Given the description of an element on the screen output the (x, y) to click on. 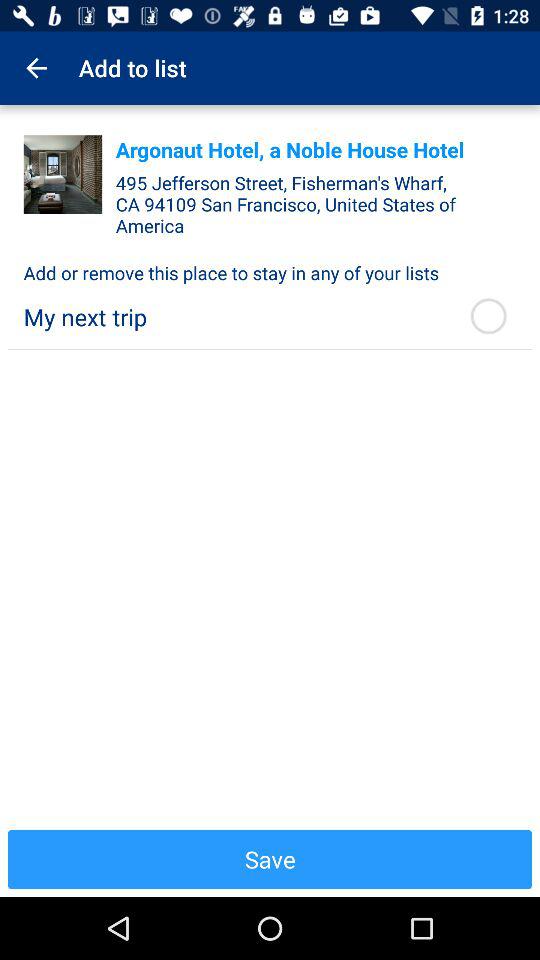
click icon above add or remove app (62, 174)
